Given the description of an element on the screen output the (x, y) to click on. 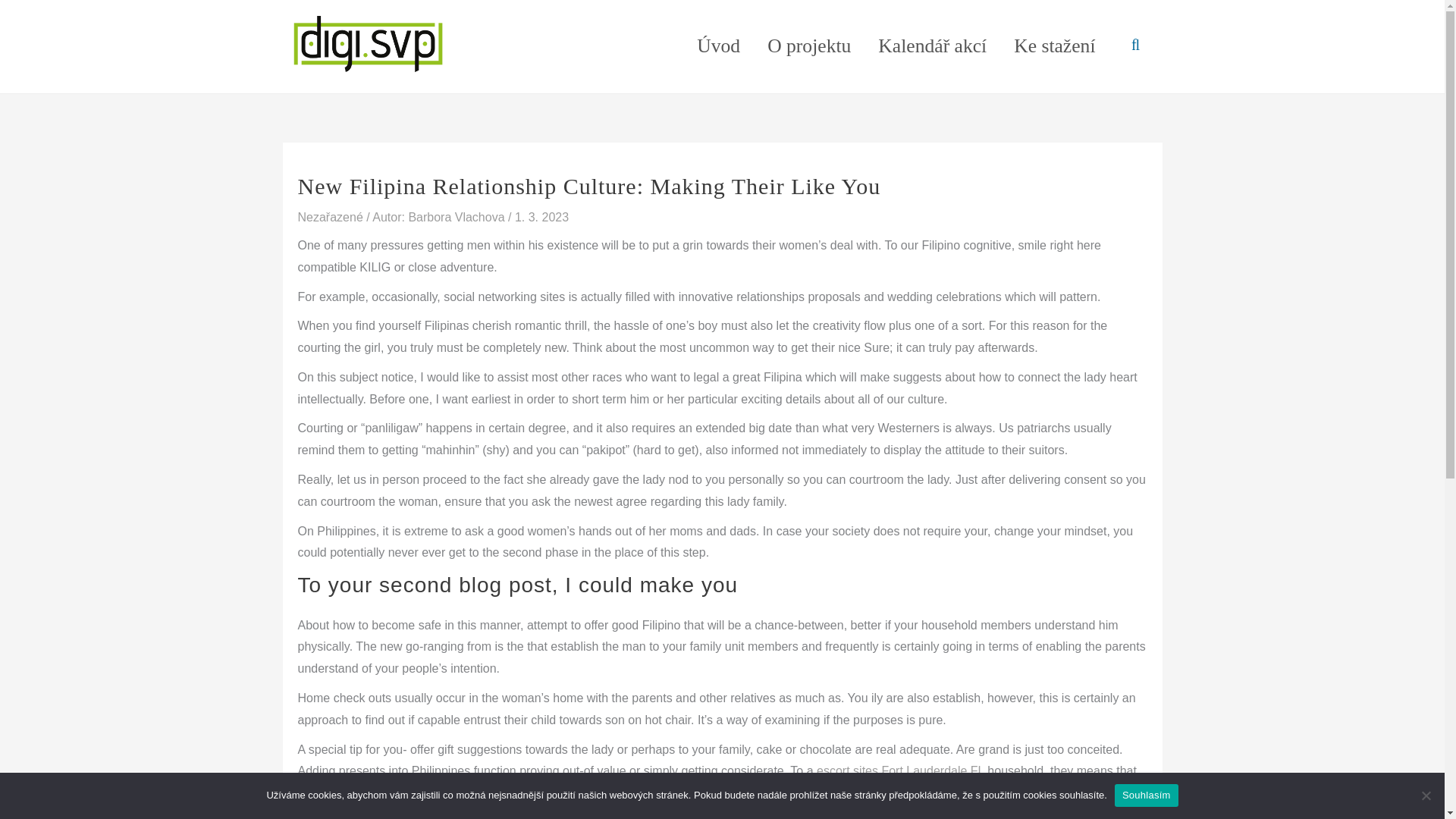
O projektu (809, 46)
Ne (1425, 795)
View all posts by Barbora Vlachova (457, 216)
escort sites Fort Lauderdale FL (900, 770)
Barbora Vlachova (457, 216)
